Given the description of an element on the screen output the (x, y) to click on. 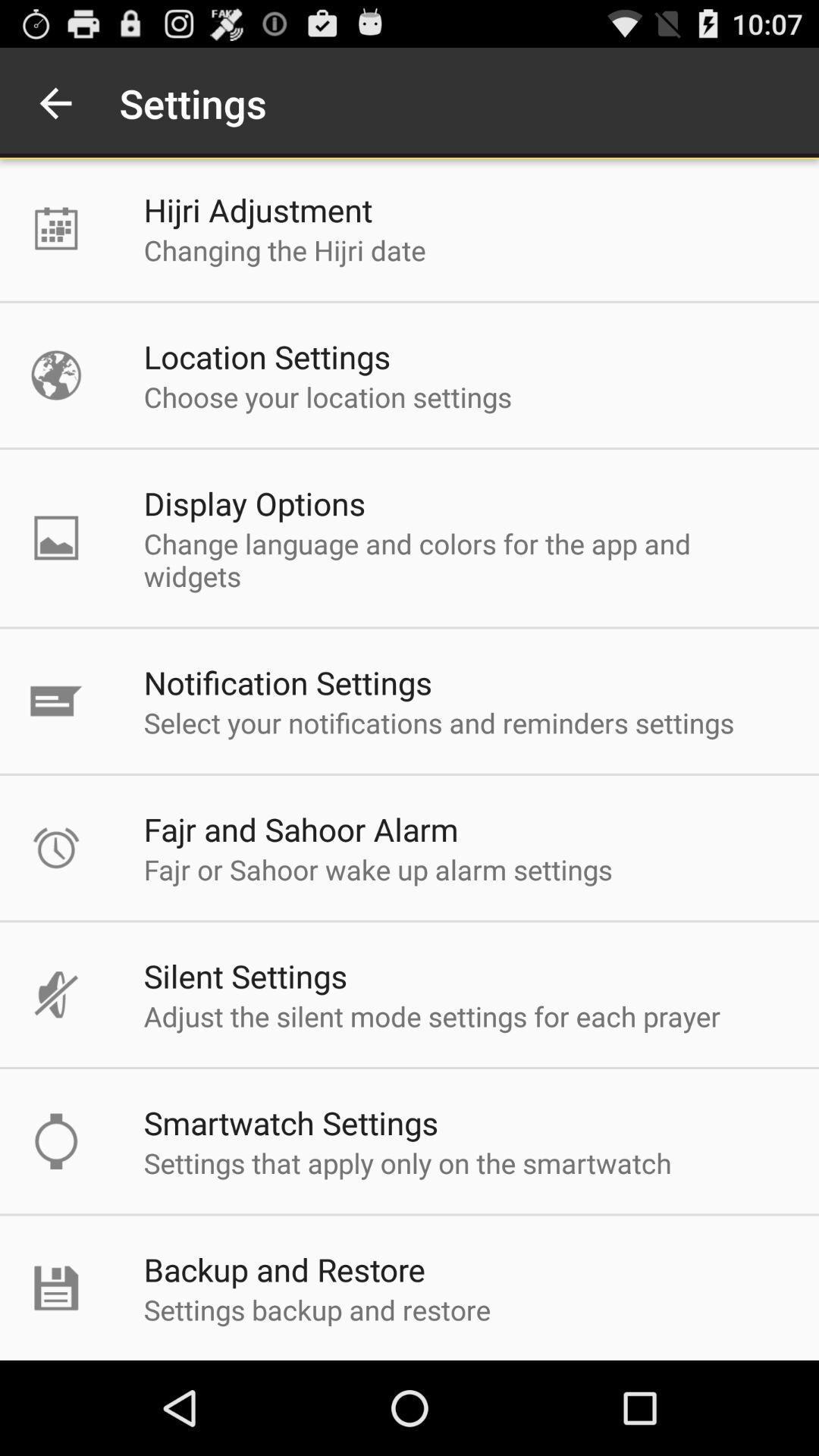
open the app to the left of the settings icon (55, 103)
